Given the description of an element on the screen output the (x, y) to click on. 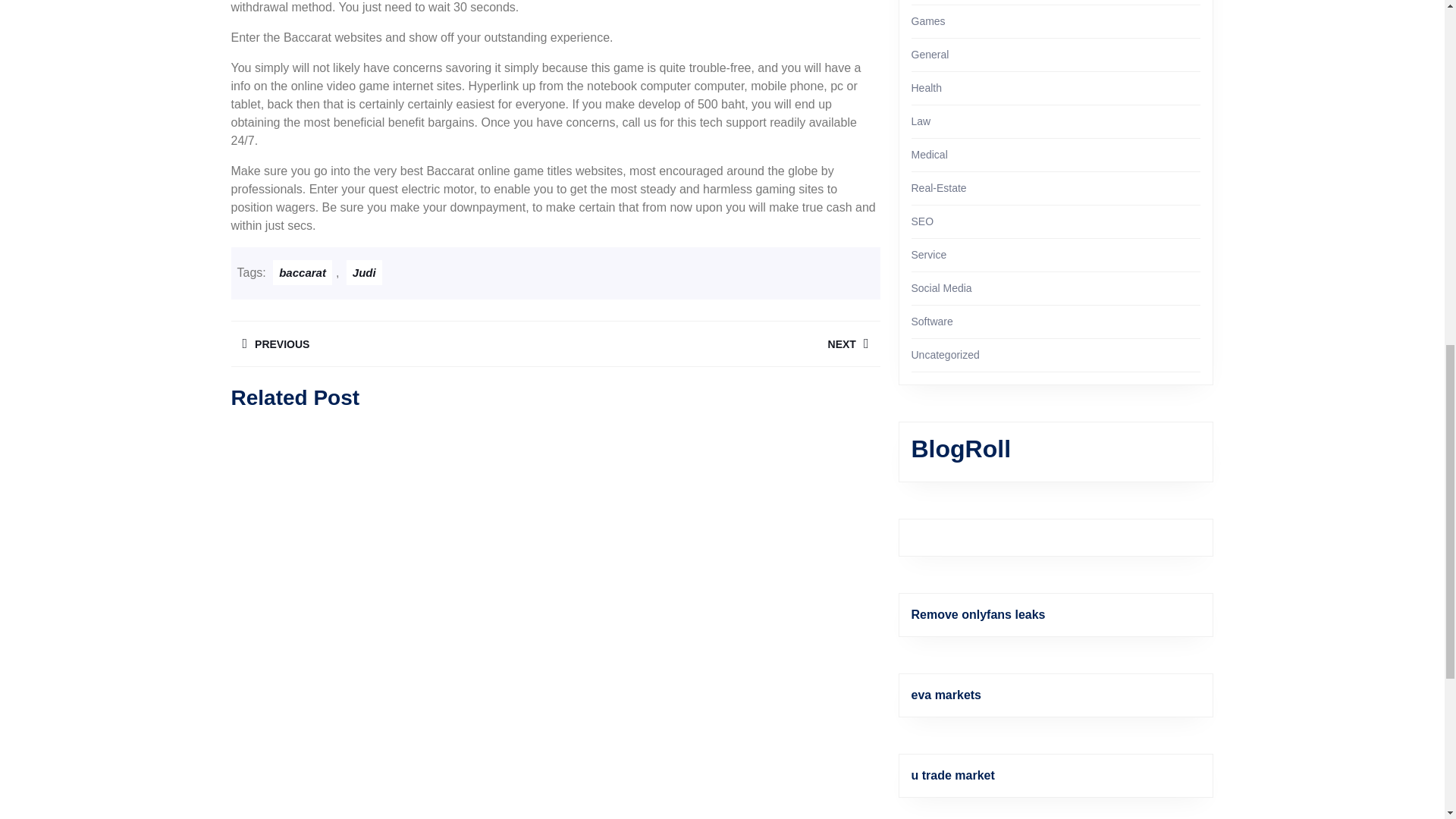
Health (926, 87)
baccarat (392, 343)
Judi (302, 272)
Games (363, 272)
General (716, 343)
